Given the description of an element on the screen output the (x, y) to click on. 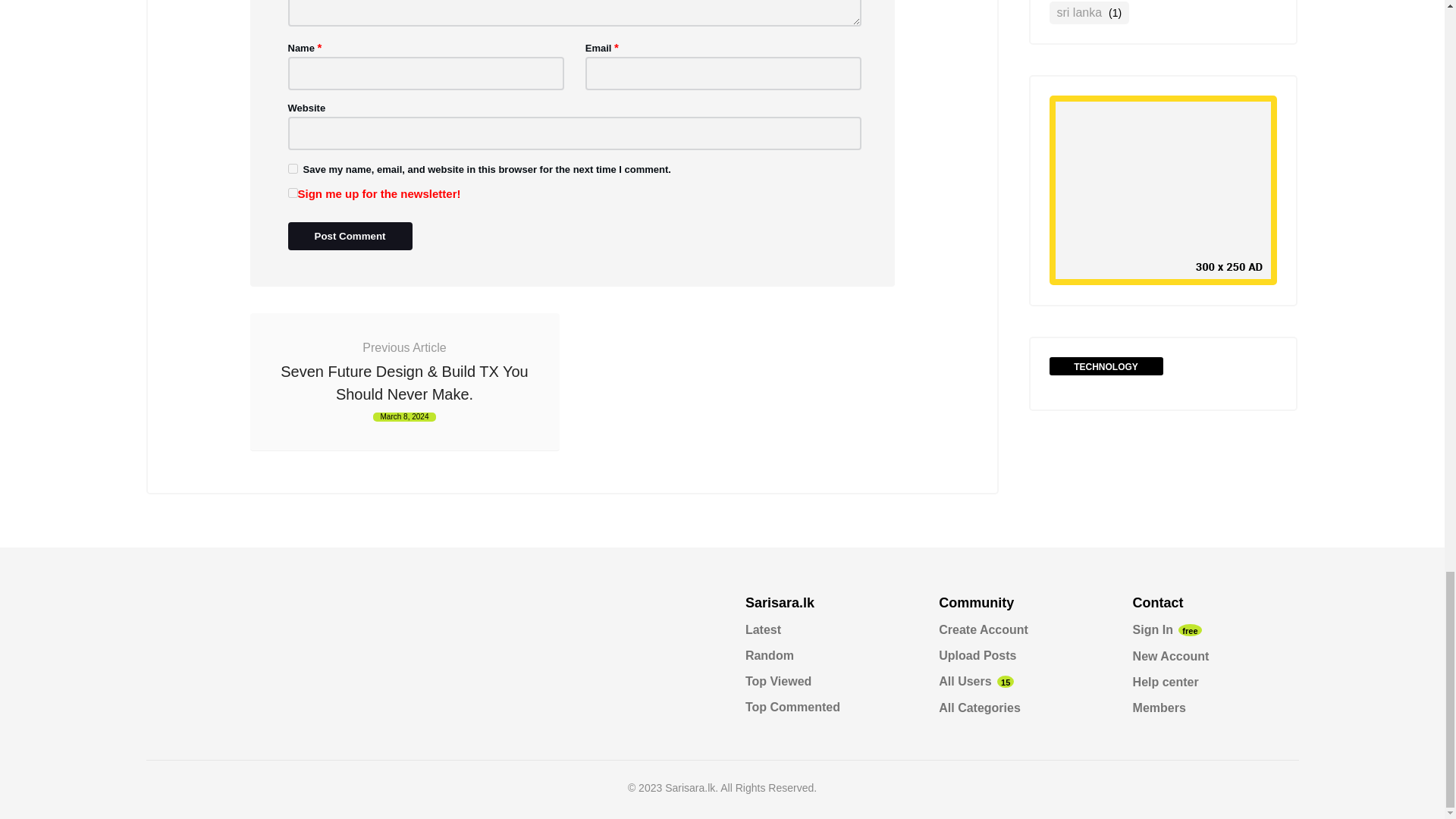
Post Comment (350, 235)
1 (293, 193)
yes (293, 168)
